Given the description of an element on the screen output the (x, y) to click on. 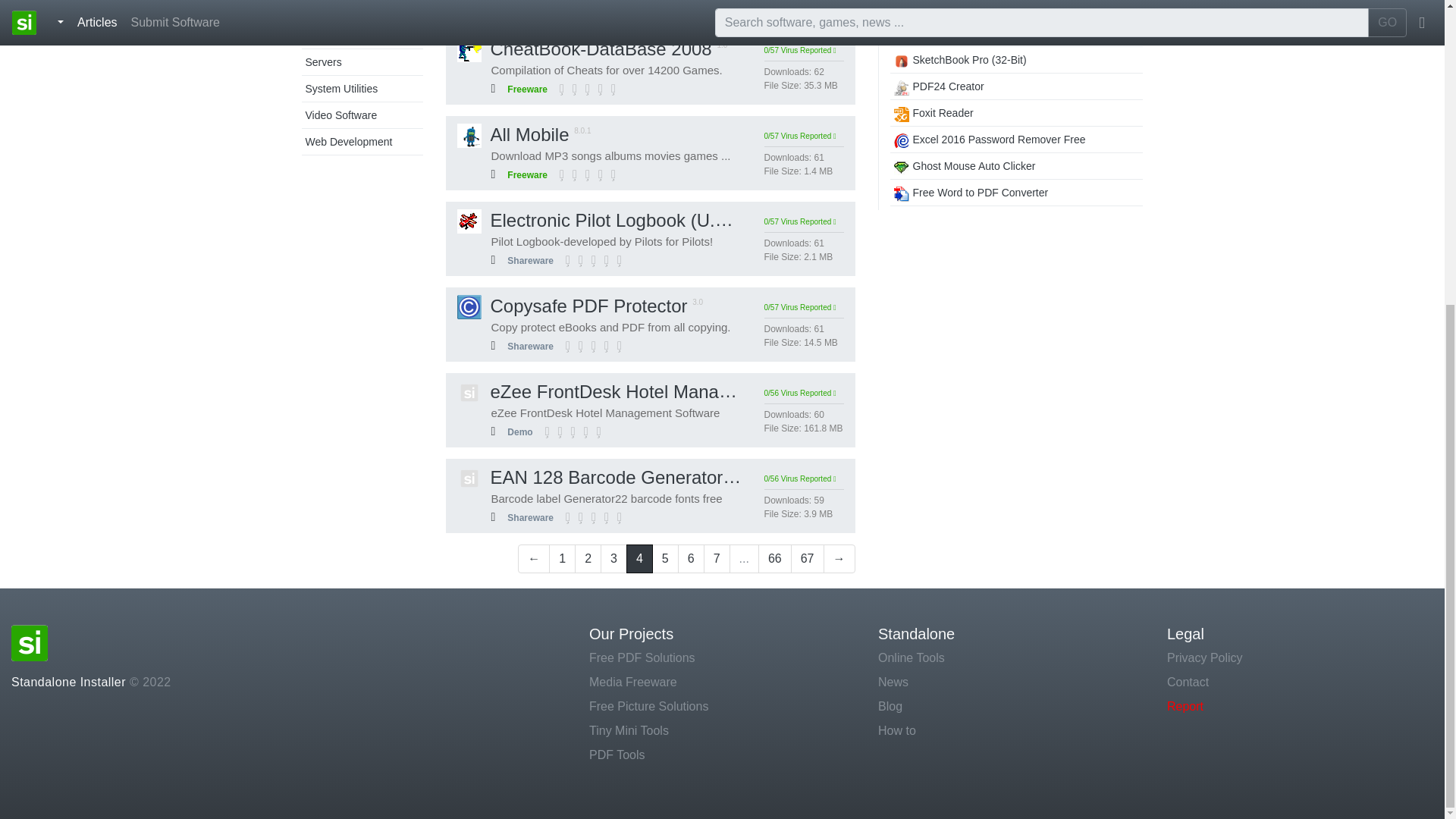
Web Development (347, 141)
Video Software (340, 114)
Servers (322, 61)
System Utilities (340, 88)
